Given the description of an element on the screen output the (x, y) to click on. 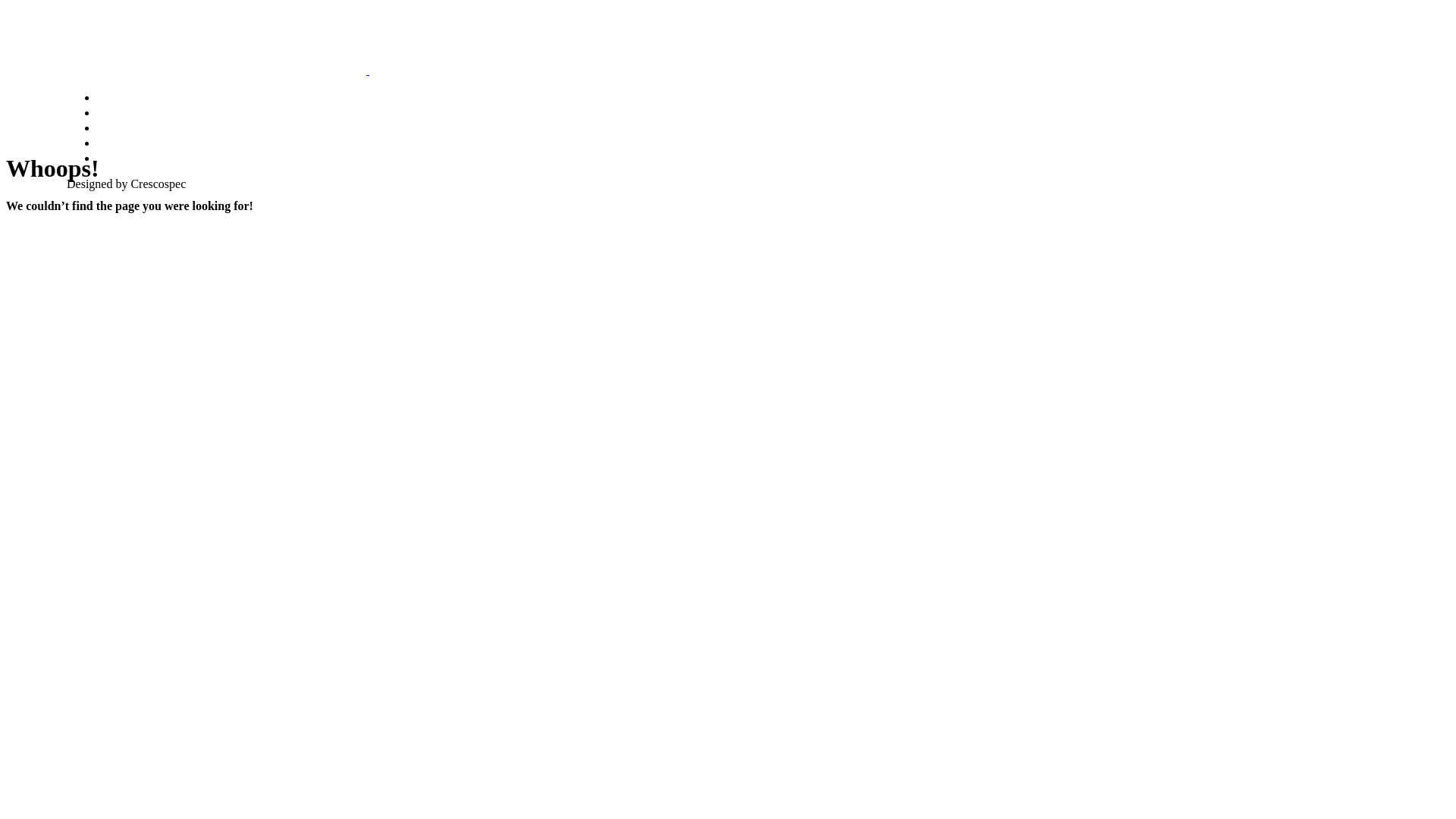
CONTACT Element type: text (125, 157)
MEDIA Element type: text (116, 126)
ABOUT Element type: text (117, 111)
HOME Element type: text (115, 96)
PROJECTS Element type: text (128, 142)
